Given the description of an element on the screen output the (x, y) to click on. 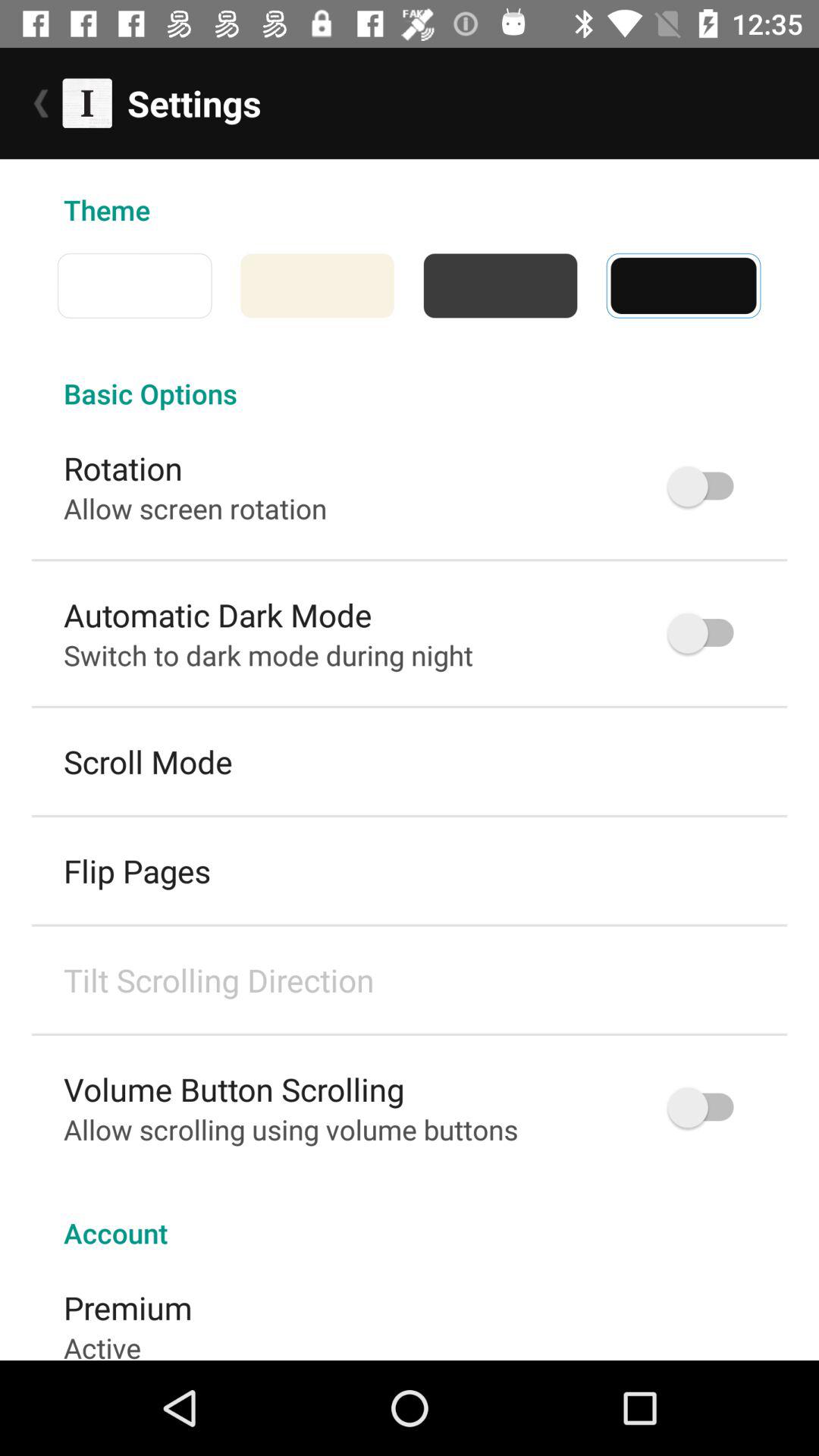
flip until flip pages item (137, 870)
